Given the description of an element on the screen output the (x, y) to click on. 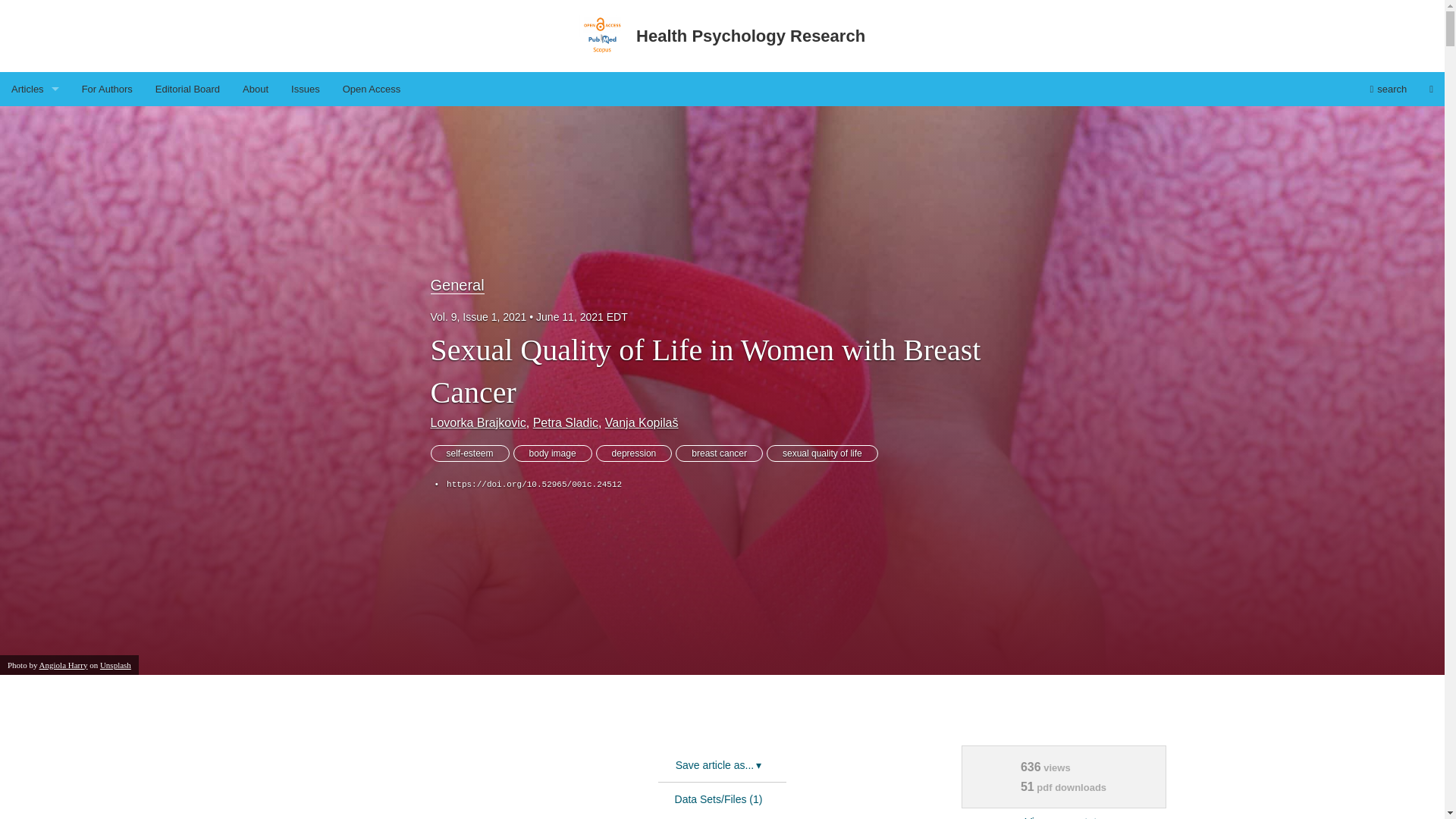
Angiola Harry (63, 664)
Articles (34, 89)
Open Access (371, 89)
For Authors (106, 89)
Health Psychology Research (721, 35)
Vol. 9, Issue 1, 2021 (483, 316)
Unsplash (115, 664)
sexual quality of life (822, 453)
breast cancer (718, 453)
Editorial Board (187, 89)
search (1388, 89)
General (457, 285)
All (34, 157)
depression (633, 453)
Health Psychology Research (362, 718)
